Given the description of an element on the screen output the (x, y) to click on. 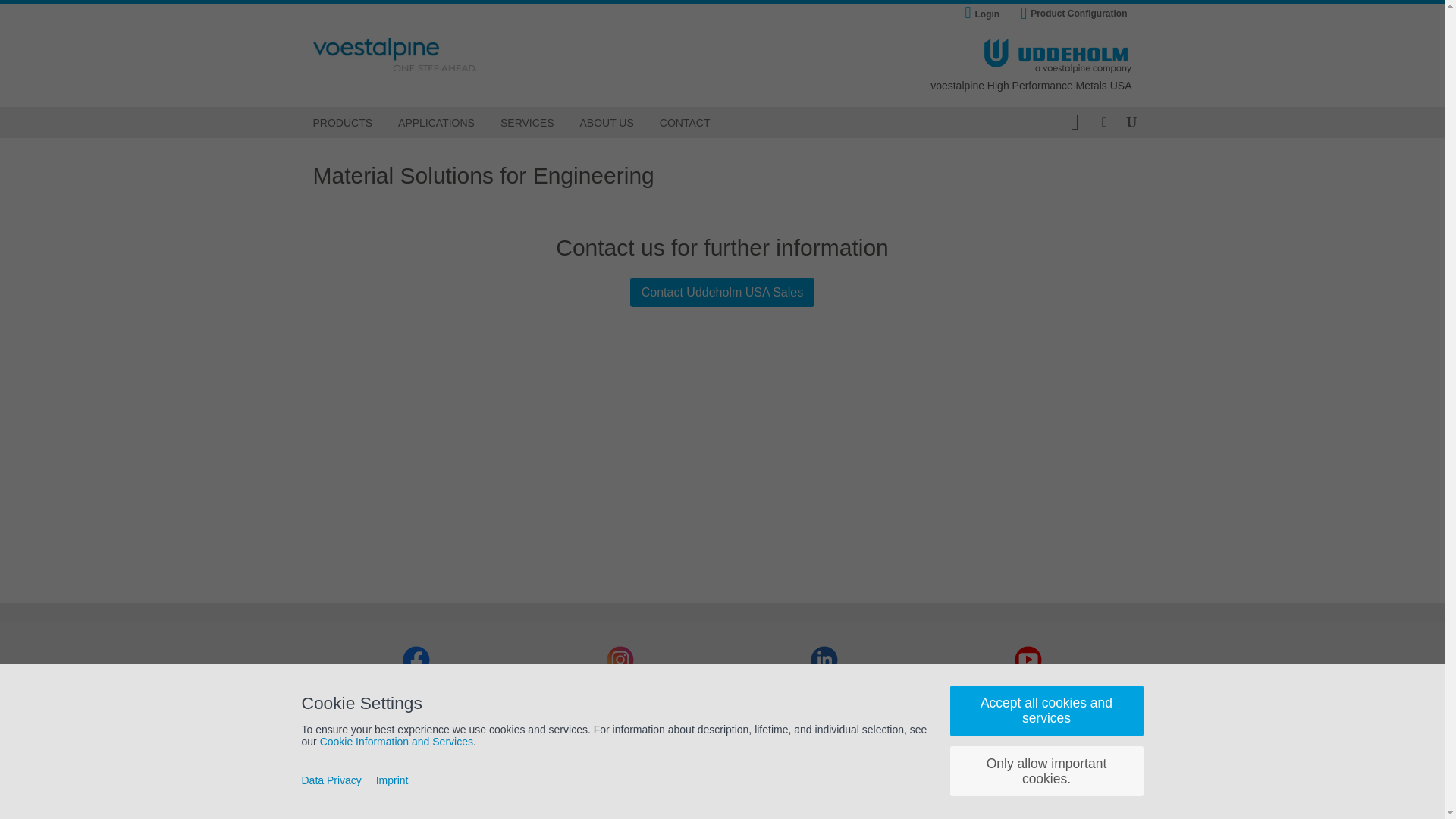
Product Configuration (1073, 14)
voestalpine High Performance Metals USA (1030, 85)
Login (986, 15)
